Given the description of an element on the screen output the (x, y) to click on. 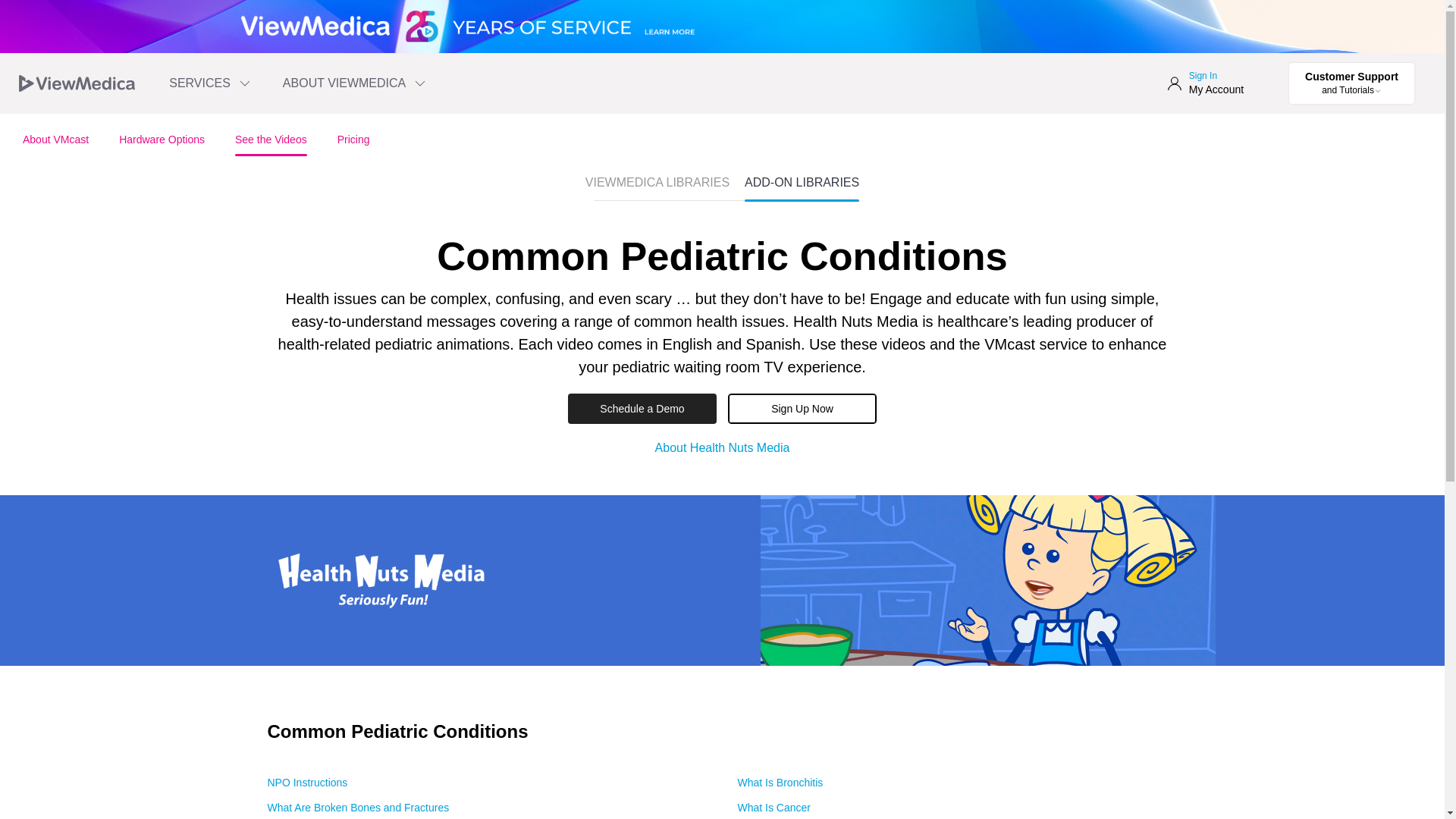
Home (77, 83)
ABOUT VIEWMEDICA (354, 83)
Skip to Navigation (1205, 83)
SERVICES (210, 83)
Skip to Navigation (210, 83)
